Given the description of an element on the screen output the (x, y) to click on. 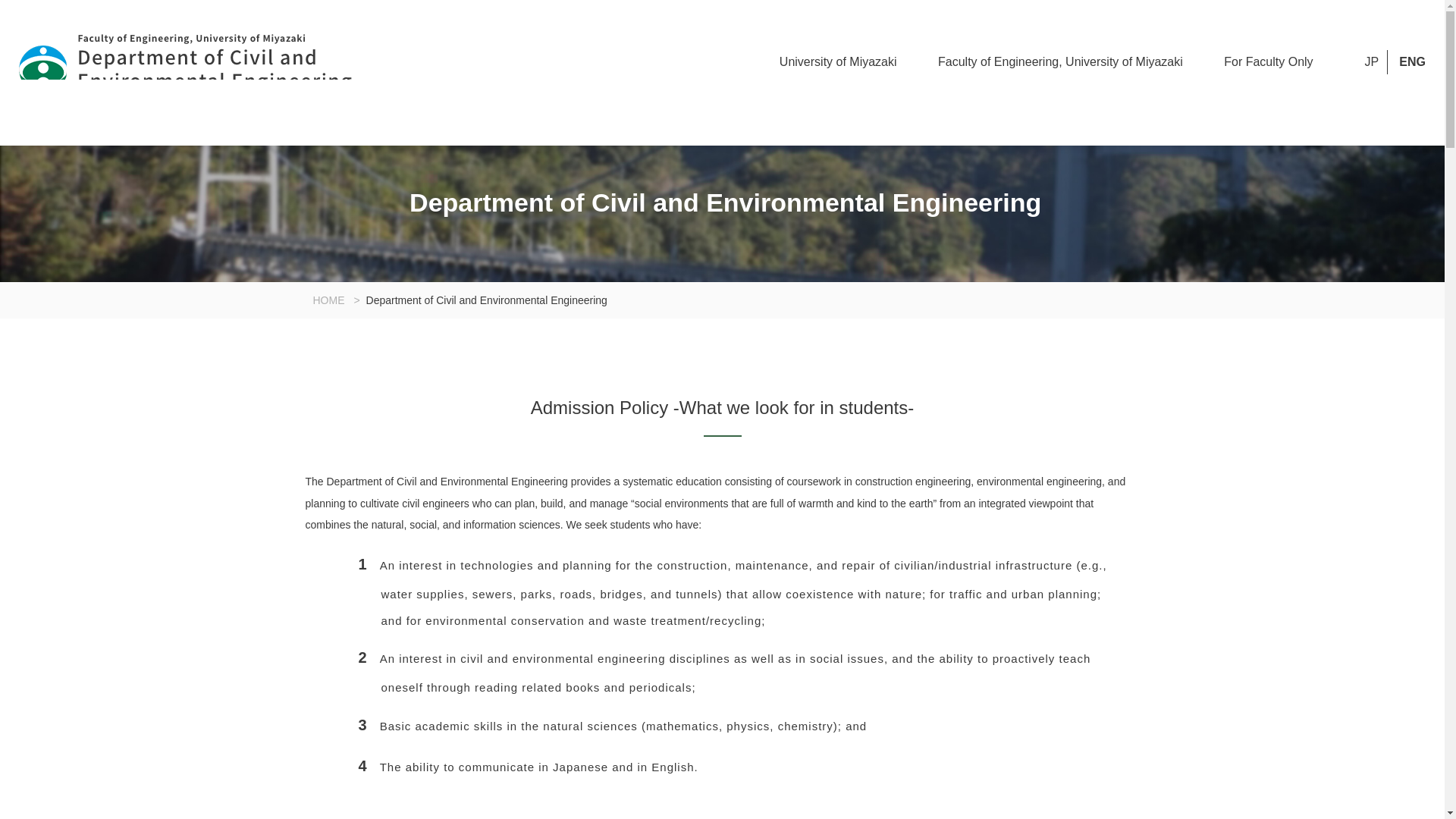
University of Miyazaki (837, 61)
HOME (328, 300)
ENG (1412, 61)
Faculty of Engineering, University of Miyazaki (1059, 61)
JP (1371, 61)
For Faculty Only (1268, 61)
